Given the description of an element on the screen output the (x, y) to click on. 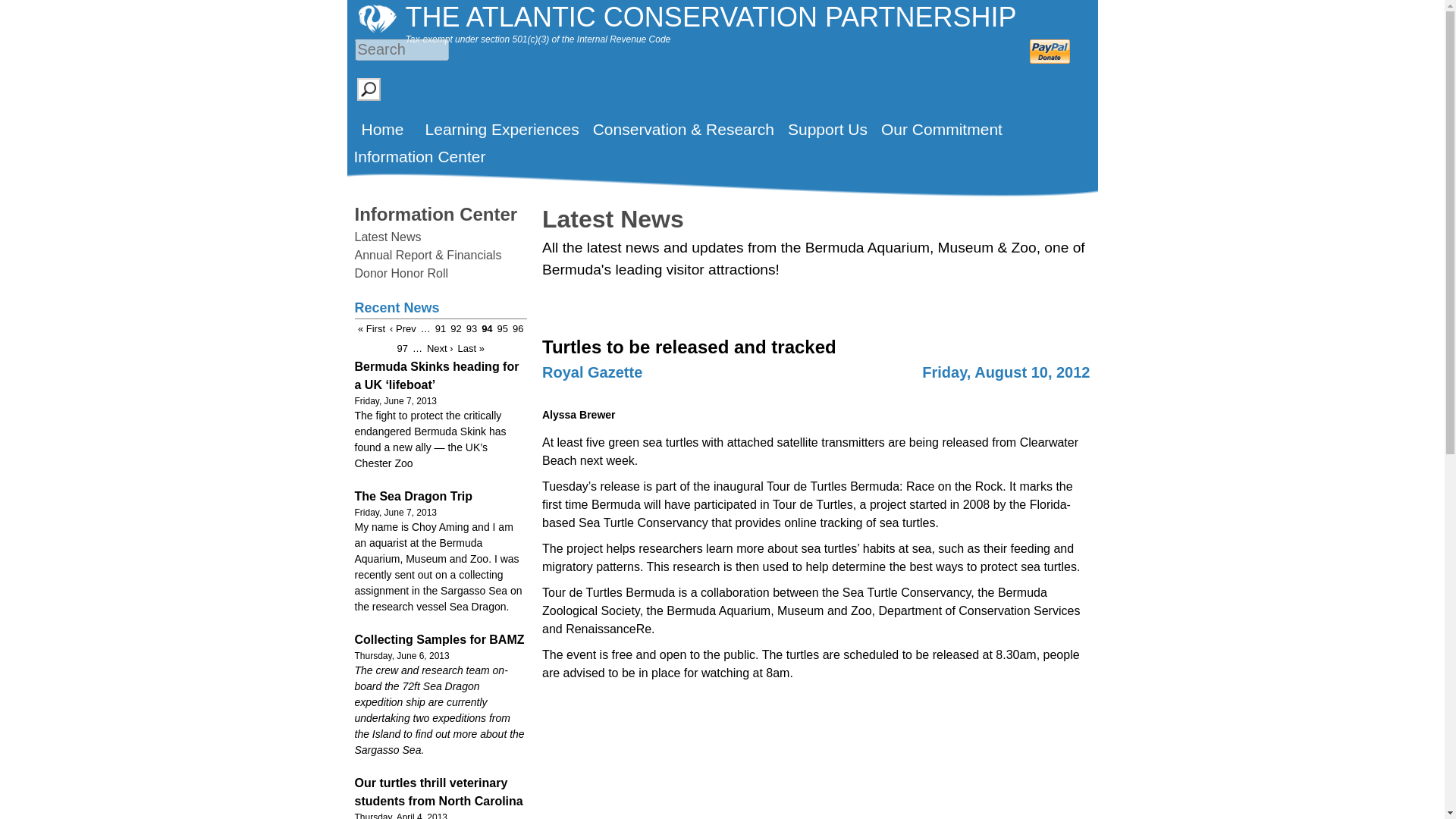
Go to page 97 (401, 348)
Home (381, 129)
Go to page 92 (455, 328)
Enter the terms you wish to search for. (401, 49)
Go to page 91 (440, 328)
Information Center (436, 213)
Go to page 93 (471, 328)
Donor Honor Roll (401, 273)
Go to page 95 (502, 328)
Latest News (388, 236)
Collecting Samples for BAMZ (439, 639)
Go to page 96 (517, 328)
The Sea Dragon Trip (414, 495)
